Given the description of an element on the screen output the (x, y) to click on. 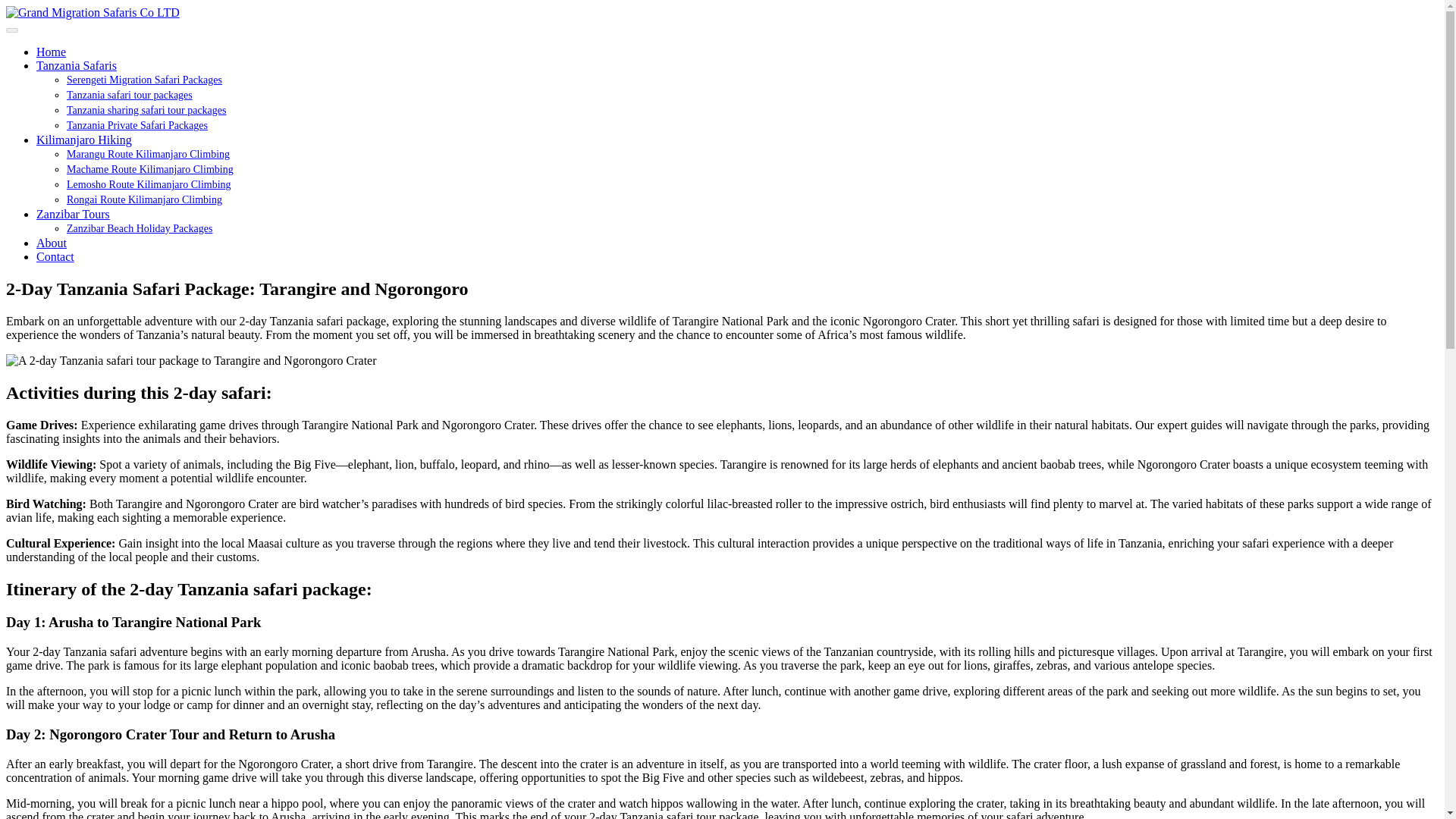
Tanzania sharing safari tour packages (145, 110)
Serengeti Migration Safari Packages (144, 79)
Tanzania Private Safari Packages (137, 125)
Contact (55, 256)
Zanzibar Tours (73, 214)
Tanzania safari tour packages (129, 94)
Tanzania Safaris (76, 65)
About (51, 242)
Kilimanjaro Hiking (84, 139)
